Given the description of an element on the screen output the (x, y) to click on. 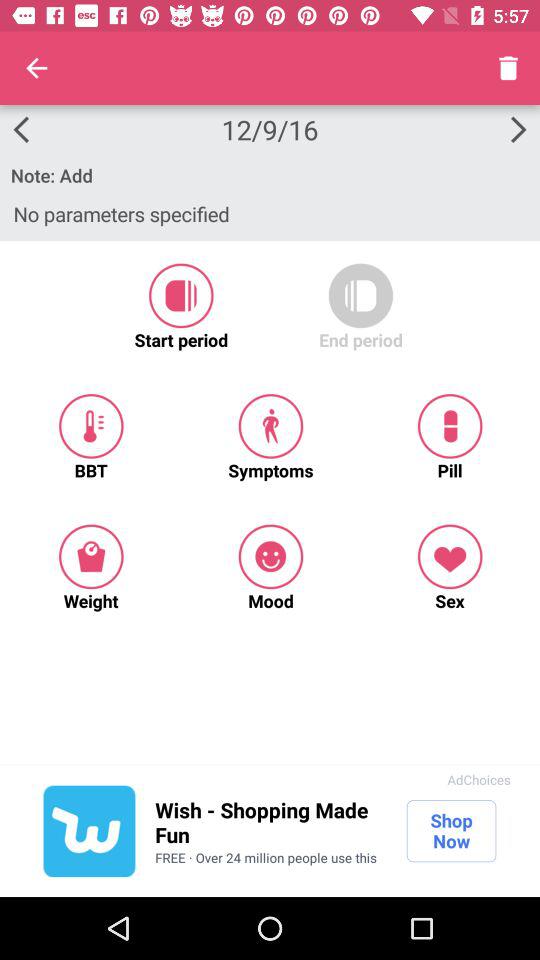
go to wish advertisement (89, 831)
